Given the description of an element on the screen output the (x, y) to click on. 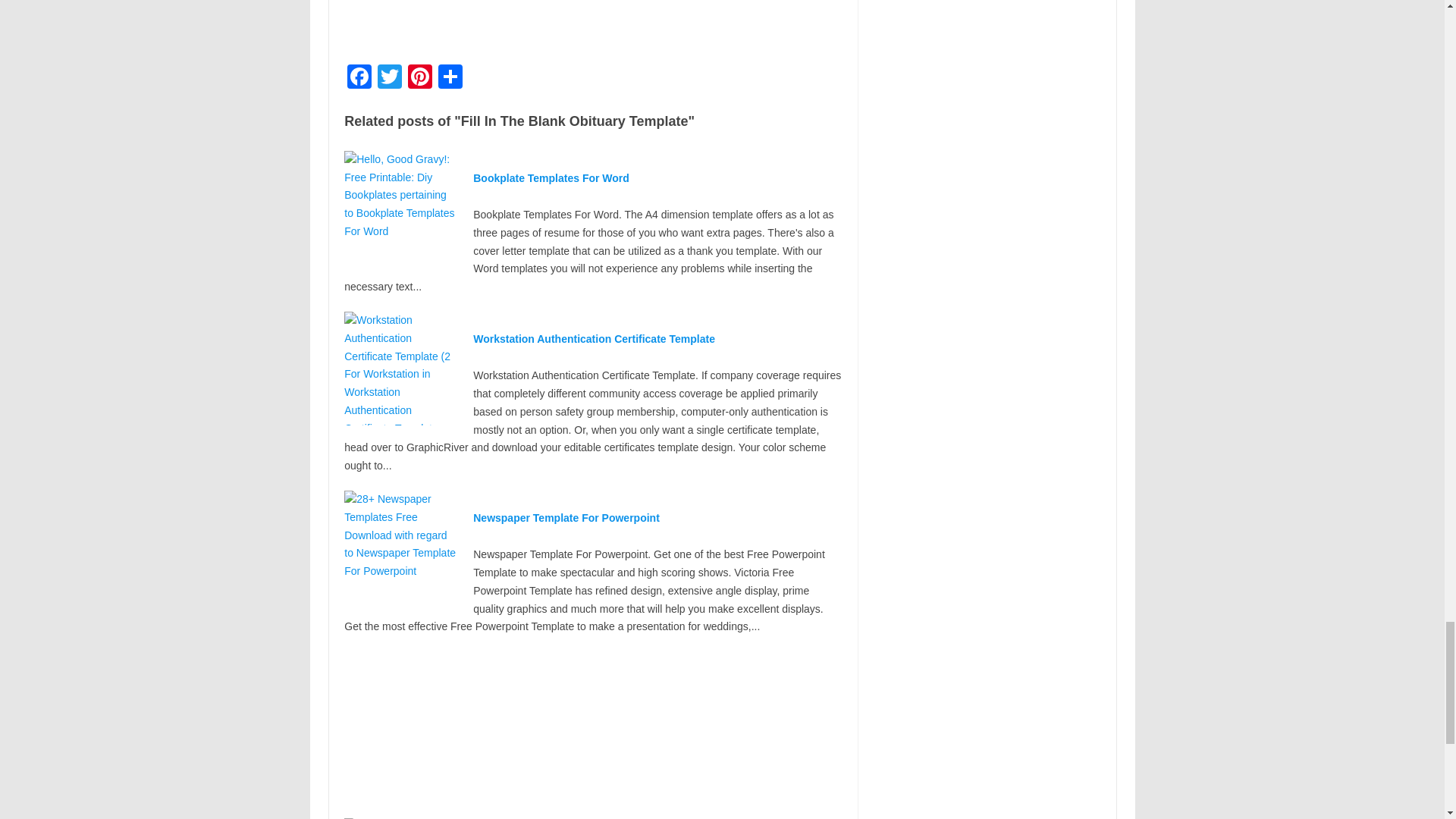
Share (450, 78)
Twitter (389, 78)
Newspaper Template For Powerpoint (566, 517)
Workstation Authentication Certificate Template (593, 338)
Facebook (358, 78)
Pinterest (419, 78)
Facebook (358, 78)
Twitter (389, 78)
Pinterest (419, 78)
Bookplate Templates For Word (550, 177)
